Given the description of an element on the screen output the (x, y) to click on. 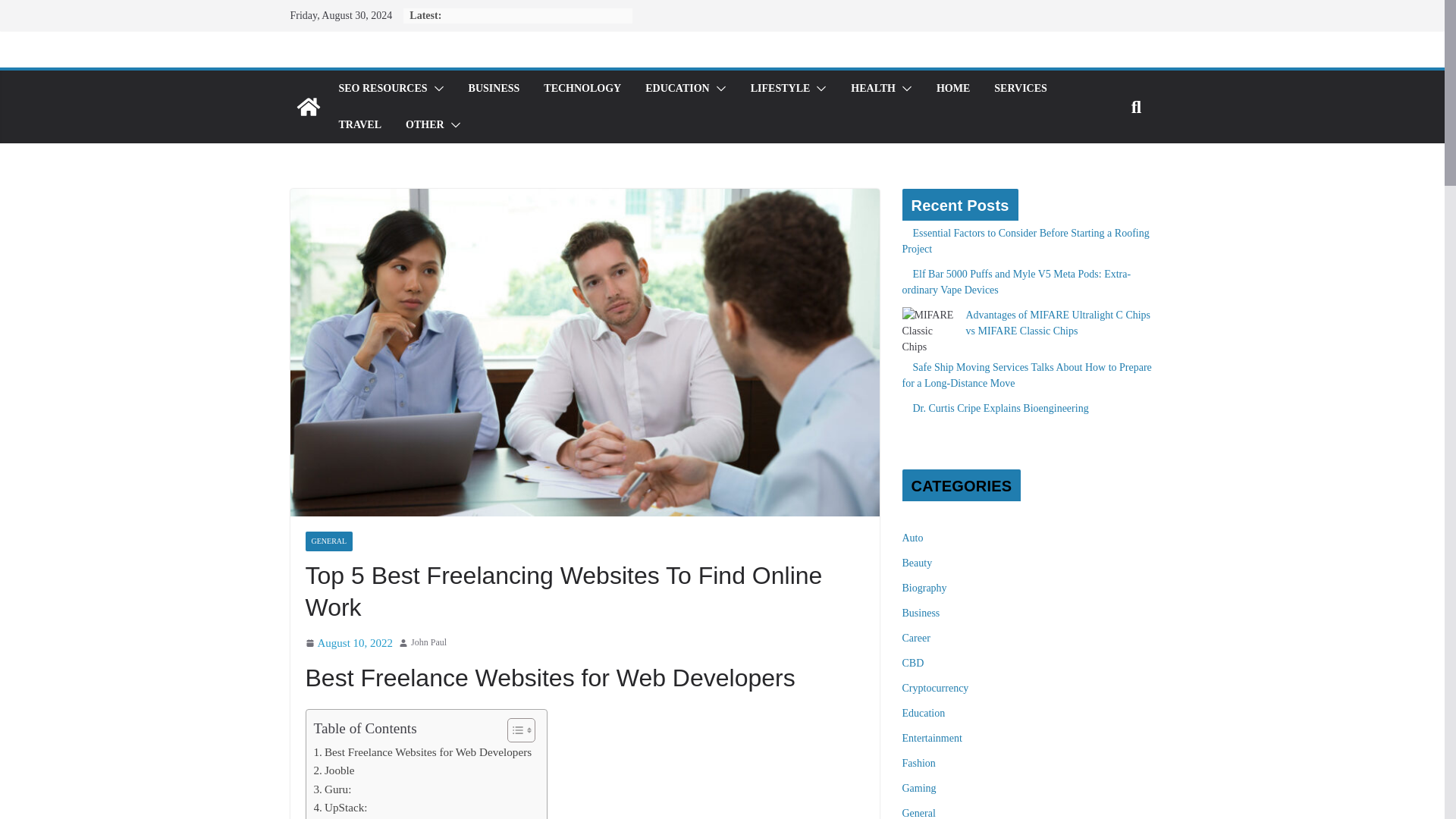
HEALTH (872, 88)
Upwork (338, 817)
TRAVEL (359, 124)
OTHER (425, 124)
Upwork (338, 817)
SEO RESOURCES (381, 88)
EDUCATION (677, 88)
Best Freelance Websites for Web Developers (423, 751)
11:23 am (348, 643)
